Given the description of an element on the screen output the (x, y) to click on. 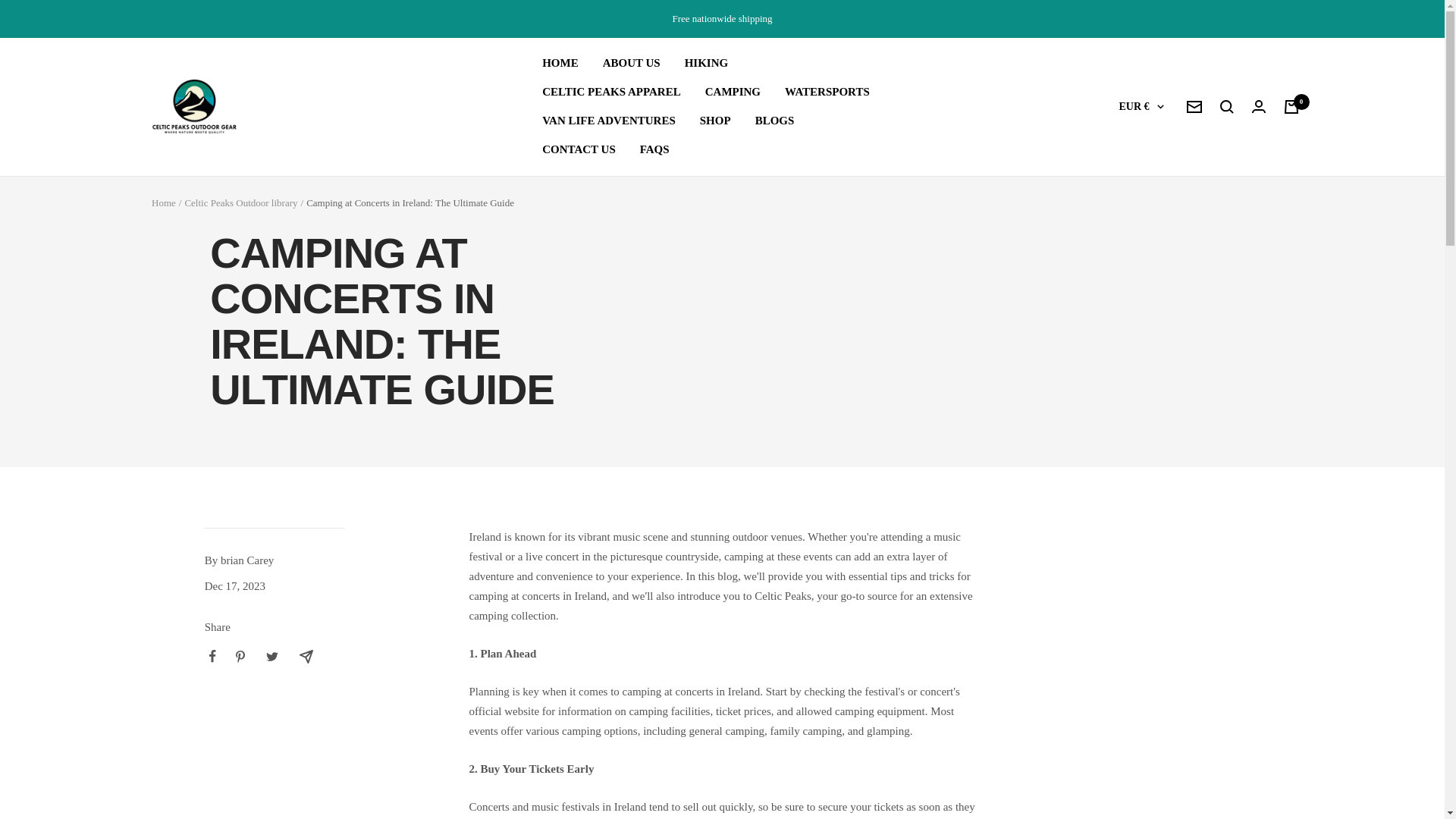
AUD (1126, 184)
CHF (1126, 234)
USD (1126, 584)
Home (163, 202)
ABOUT US (631, 63)
CAD (1126, 209)
Celtic Peaks Outdoor Gear (194, 106)
HOME (559, 63)
EUR (1126, 309)
VAN LIFE ADVENTURES (608, 121)
CAMPING (732, 92)
CELTIC PEAKS APPAREL (611, 92)
BLOGS (774, 121)
CONTACT US (578, 149)
ILS (1126, 383)
